Given the description of an element on the screen output the (x, y) to click on. 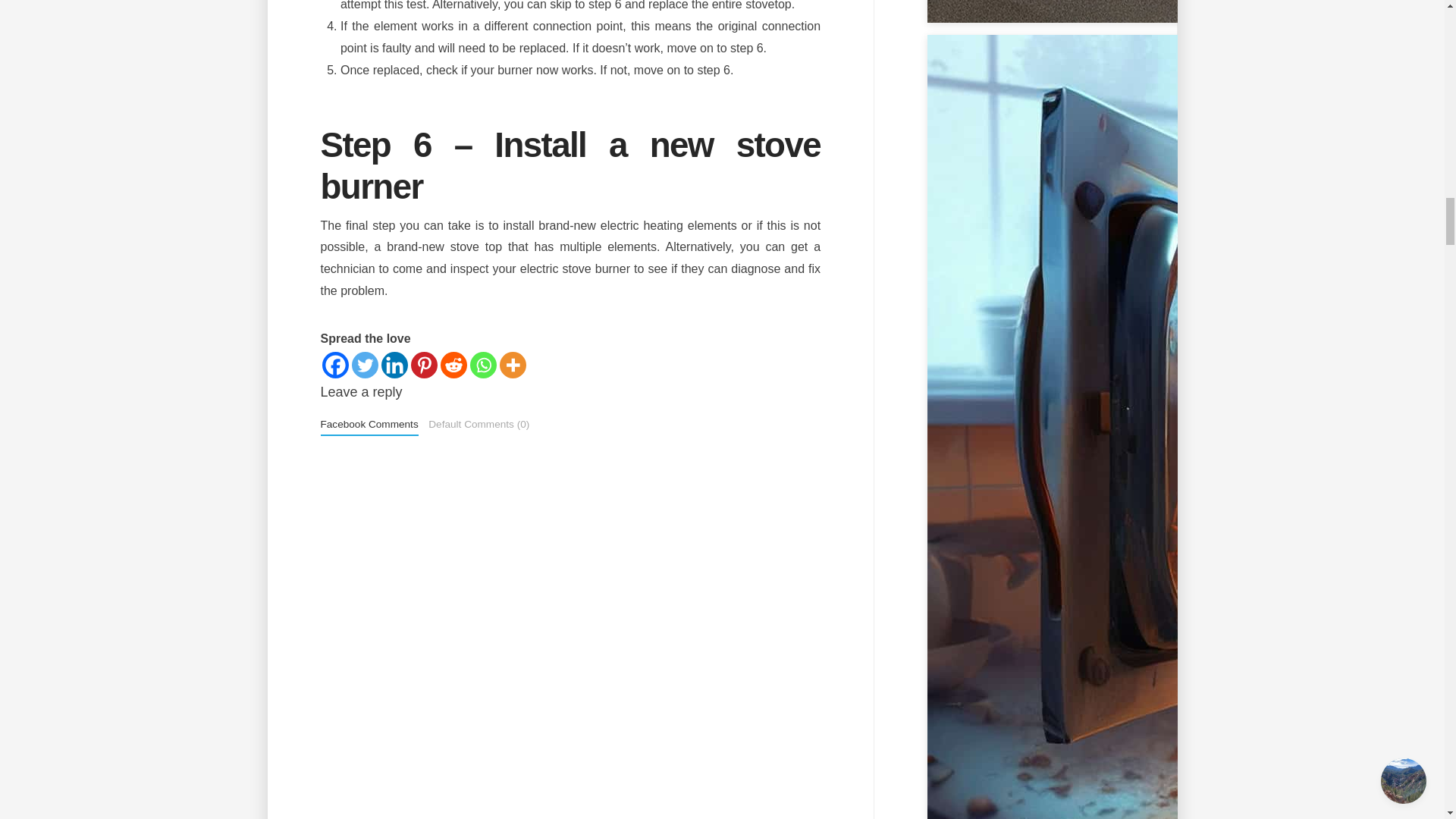
Facebook (334, 365)
Twitter (365, 365)
More (512, 365)
Linkedin (393, 365)
Whatsapp (483, 365)
Pinterest (424, 365)
Reddit (452, 365)
